Given the description of an element on the screen output the (x, y) to click on. 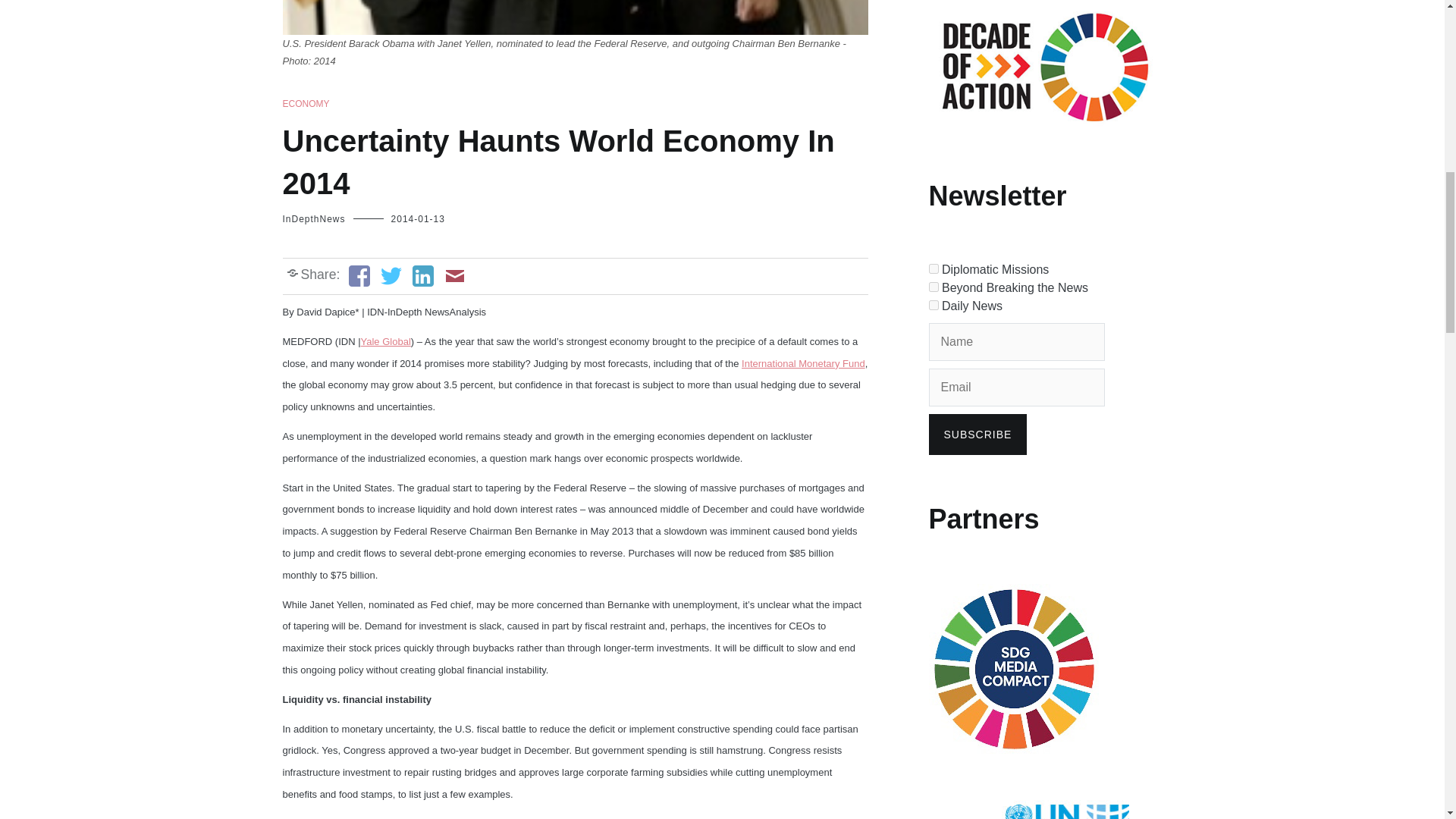
8 (932, 268)
9 (932, 286)
10 (932, 305)
Subscribe (977, 434)
